Given the description of an element on the screen output the (x, y) to click on. 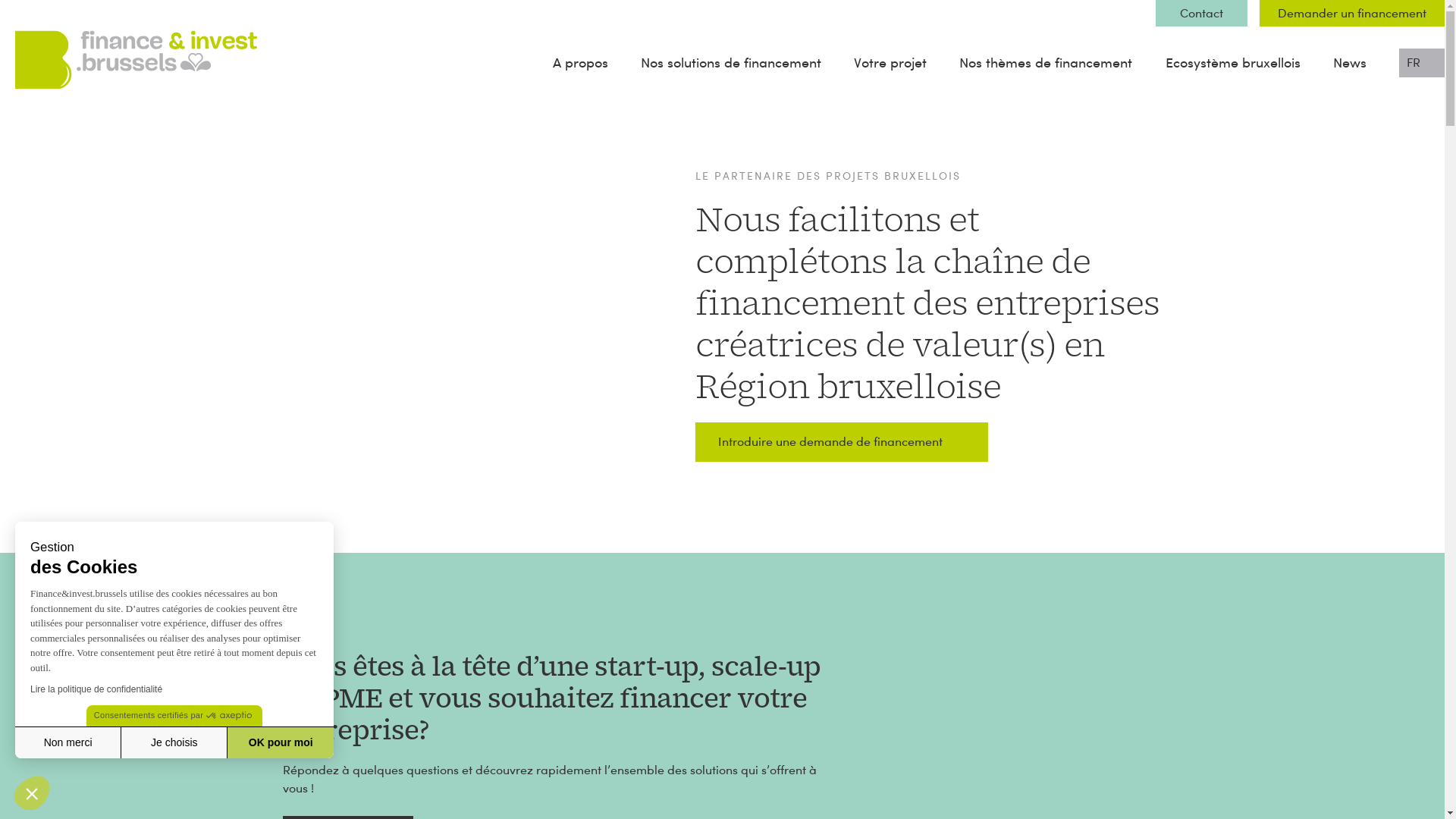
A propos Element type: text (580, 62)
submit Element type: text (721, 583)
Demander un financement Element type: text (1351, 13)
finance&invest.brussels Element type: text (86, 120)
News Element type: text (1349, 62)
Votre projet Element type: text (889, 62)
submit Element type: text (721, 642)
Nos solutions de financement Element type: text (730, 62)
Fermer le widget sans consentement Element type: hover (31, 793)
Introduire une demande de financement Element type: text (840, 441)
Contact Element type: text (1201, 13)
